Given the description of an element on the screen output the (x, y) to click on. 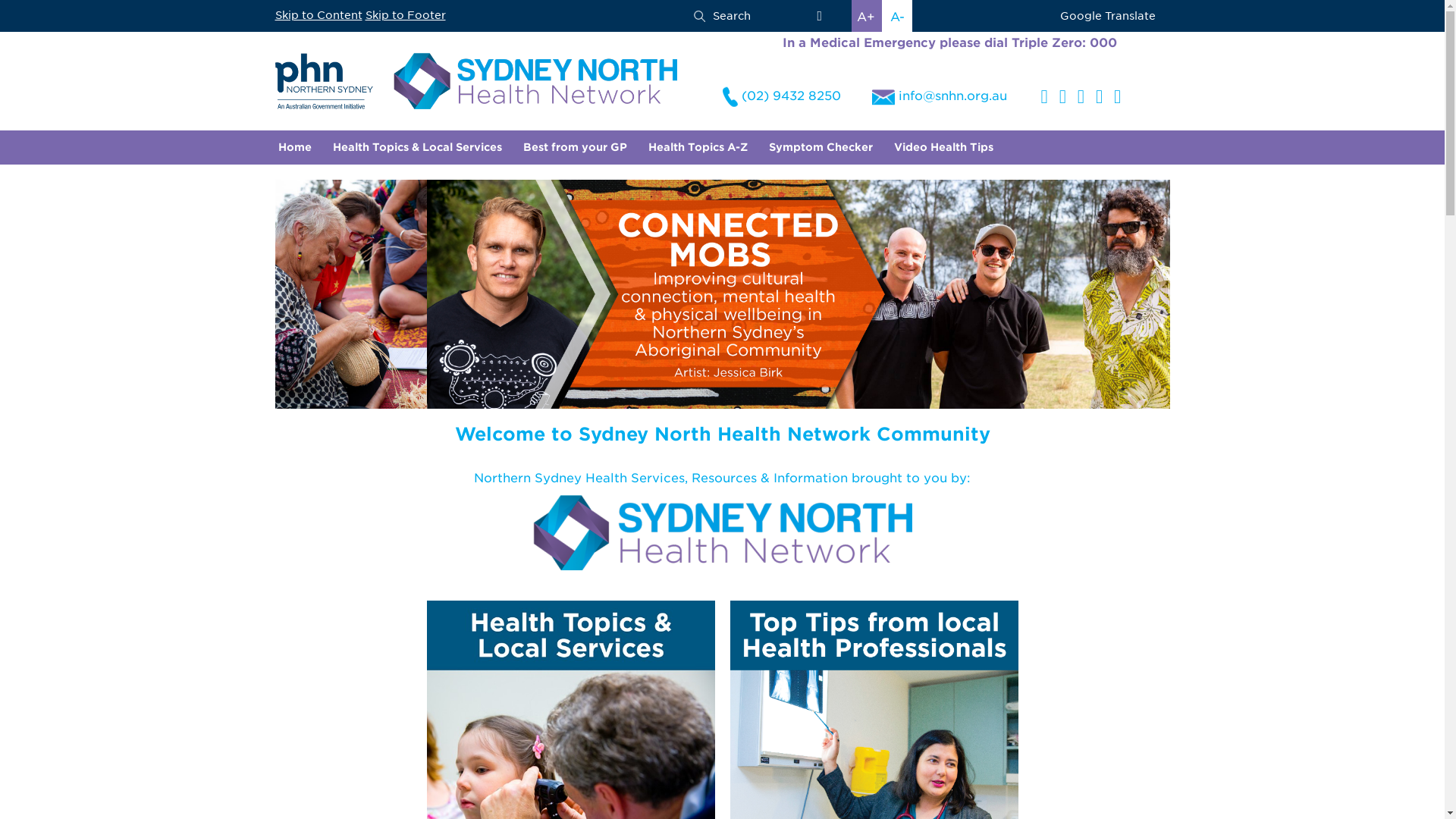
Video Health Tips Element type: text (942, 147)
Toggle High Contrast Element type: text (818, 15)
Home Element type: text (293, 147)
A- Element type: text (897, 17)
Best from your GP Element type: text (574, 147)
A+ Element type: text (865, 17)
(02) 9432 8250 Element type: text (780, 96)
Symptom Checker Element type: text (820, 147)
info@snhn.org.au Element type: text (939, 96)
Health Topics & Local Services Element type: text (416, 147)
Skip to Content Element type: text (317, 14)
Skip to Footer Element type: text (405, 14)
Health Topics A-Z Element type: text (697, 147)
Search Element type: text (721, 15)
